Given the description of an element on the screen output the (x, y) to click on. 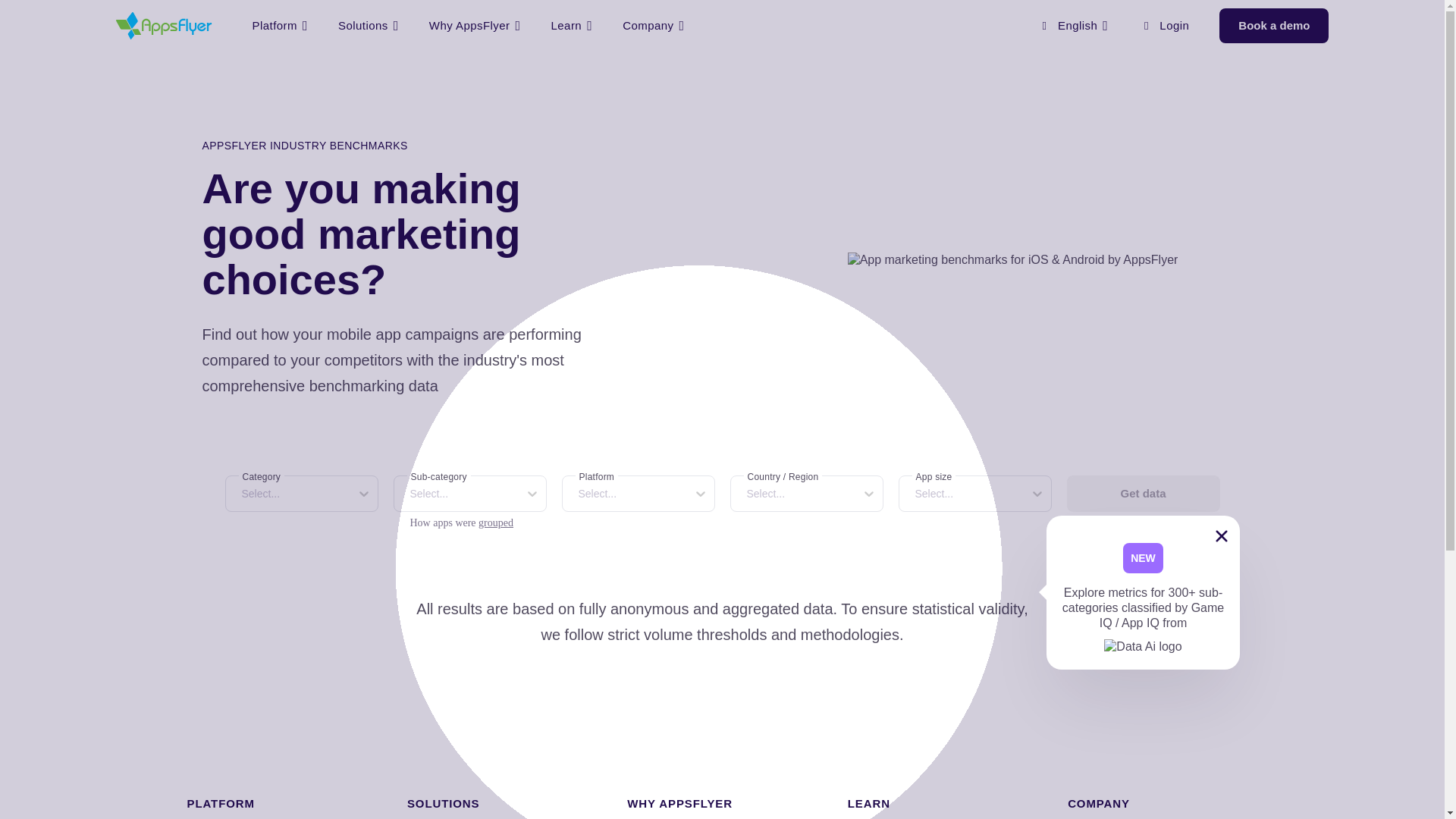
Platform (278, 25)
Why AppsFlyer (474, 25)
Solutions (368, 25)
Platform (278, 25)
Solutions (368, 25)
Learn (571, 25)
